Given the description of an element on the screen output the (x, y) to click on. 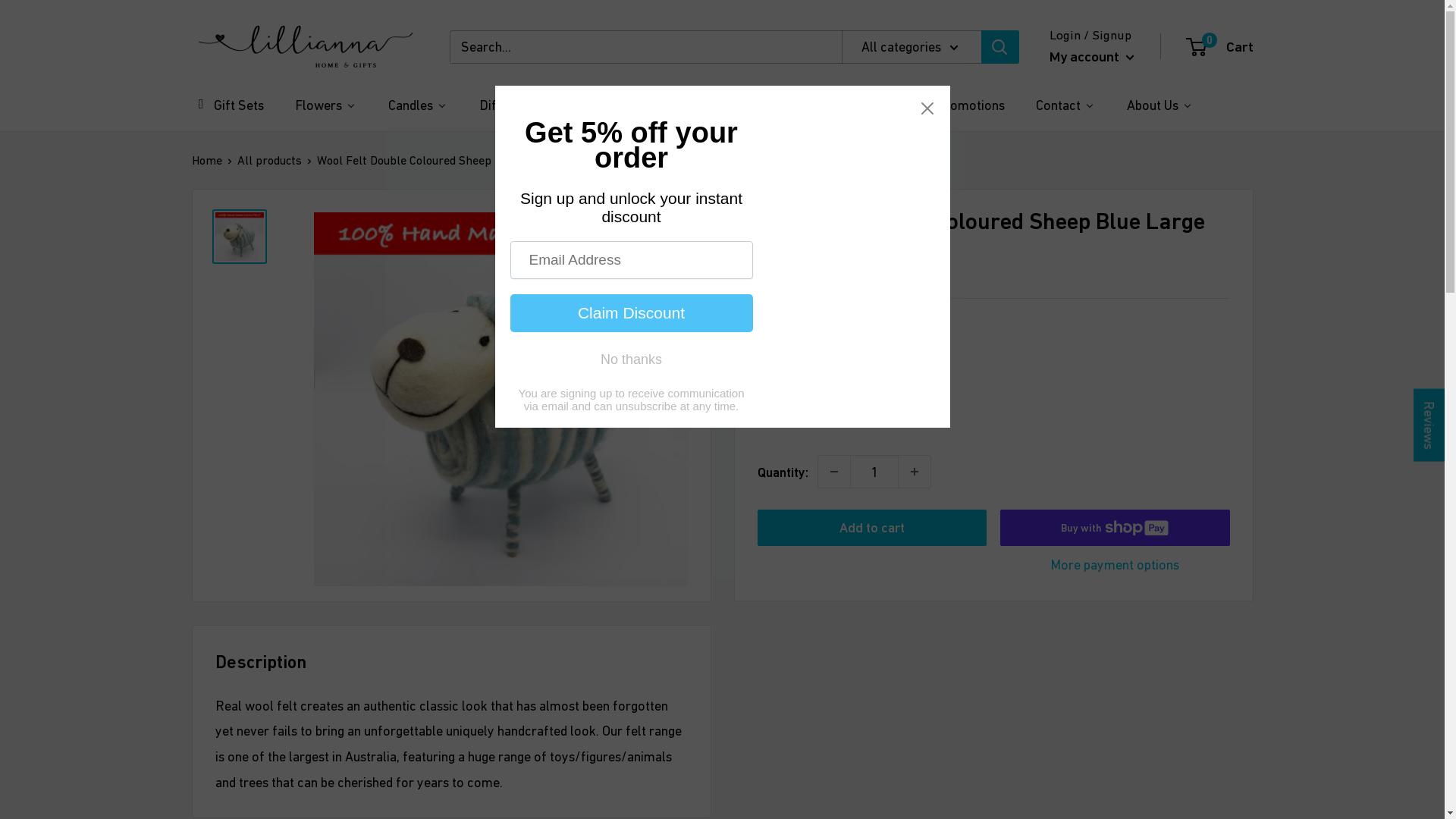
Promotions Element type: text (960, 104)
Lillianna Gifts Element type: text (304, 46)
Contact Element type: text (1064, 104)
Gift Sets Element type: text (227, 104)
Sanrio Element type: text (604, 104)
More payment options Element type: text (1115, 564)
All products Element type: text (268, 159)
About Us Element type: text (1159, 104)
Disney Element type: text (680, 104)
My account Element type: text (1091, 56)
Diffusers Element type: text (512, 104)
Candles Element type: text (417, 104)
Add to cart Element type: text (871, 527)
Decrease quantity by 1 Element type: hover (833, 471)
Increase quantity by 1 Element type: hover (913, 471)
Home Element type: text (206, 159)
Perfume Element type: text (764, 104)
Flowers Element type: text (324, 104)
Wool Felt Element type: text (856, 104)
0
Cart Element type: text (1220, 46)
